Given the description of an element on the screen output the (x, y) to click on. 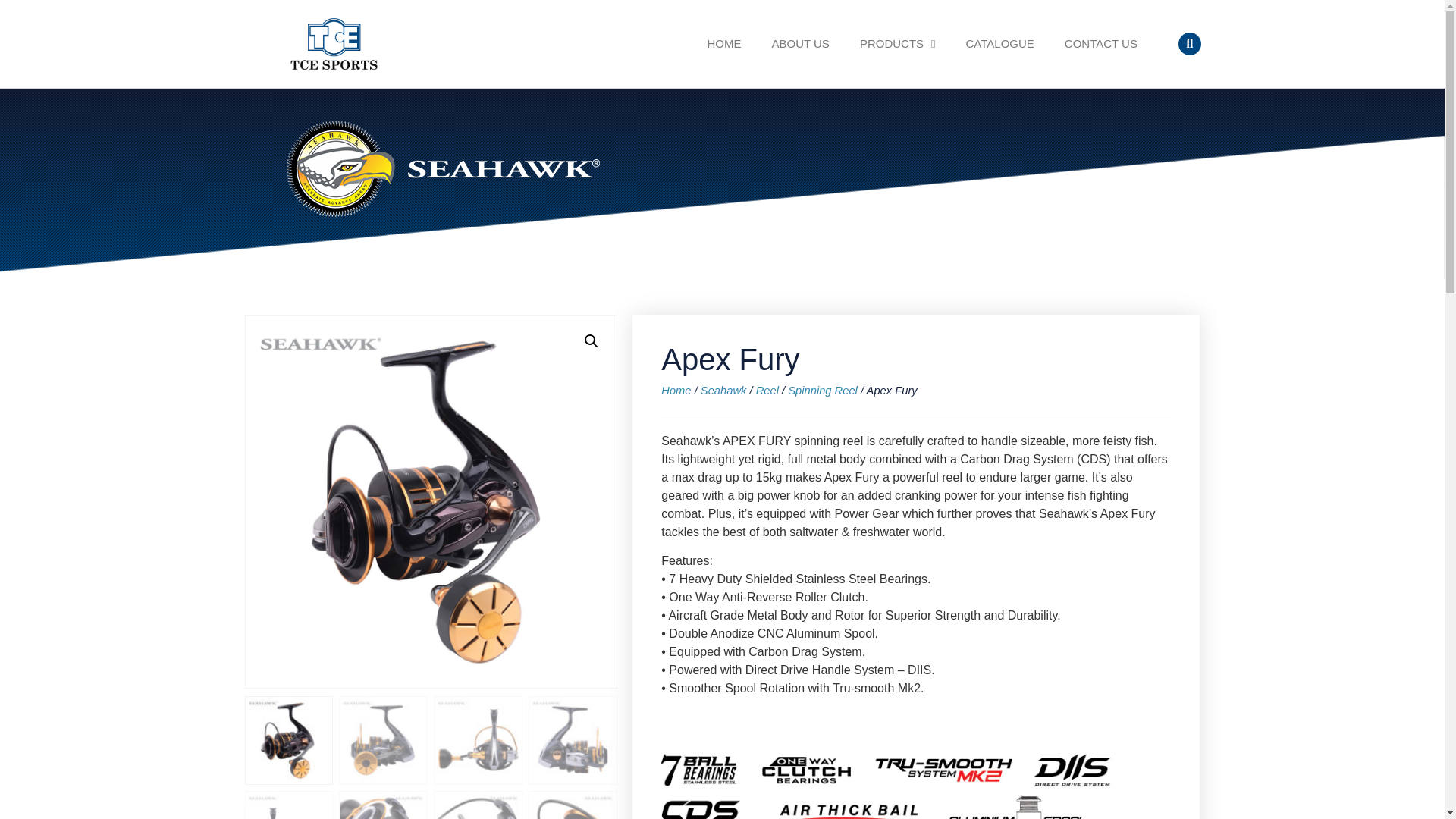
ABOUT US (799, 43)
PRODUCTS (897, 43)
